Given the description of an element on the screen output the (x, y) to click on. 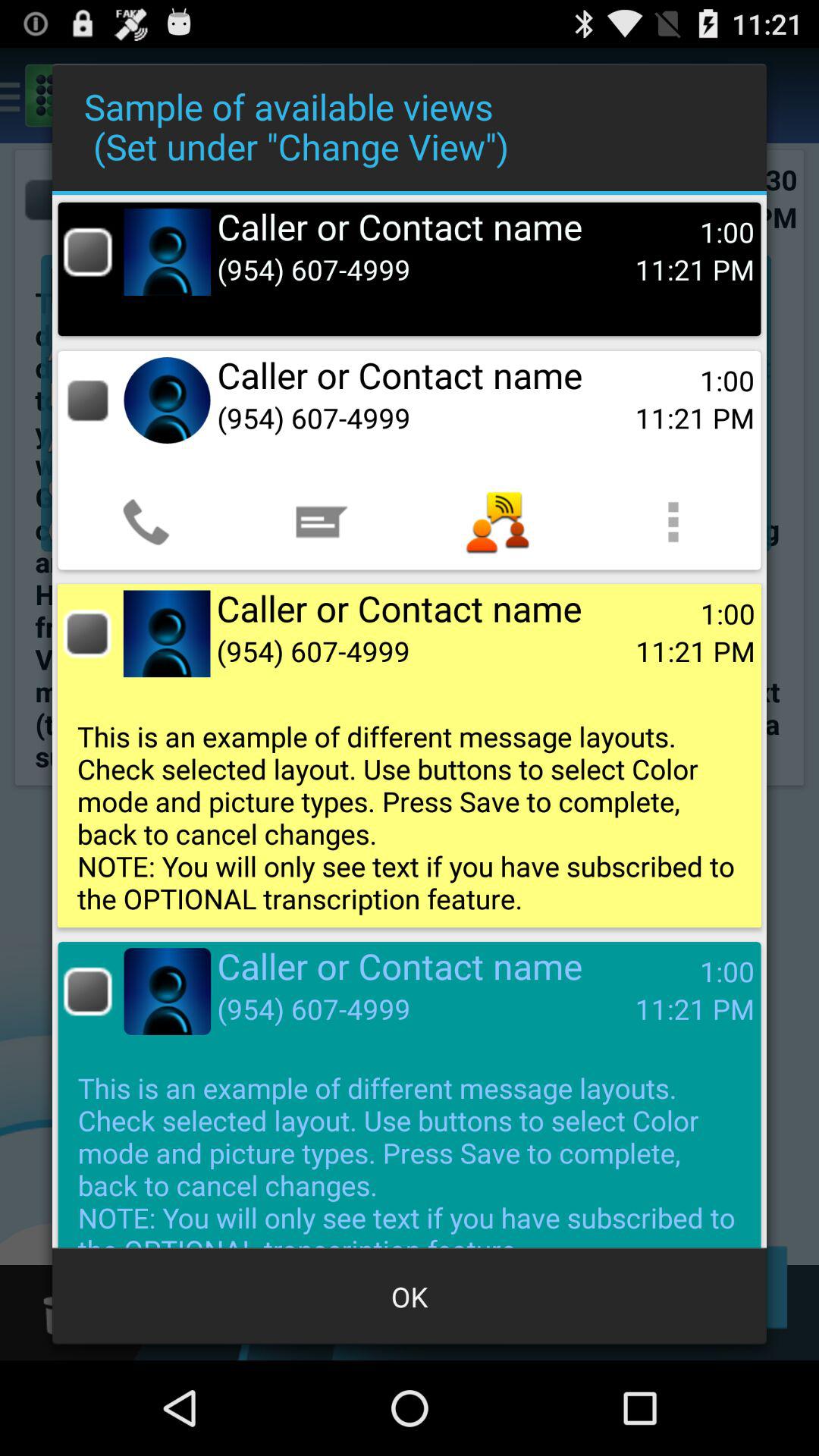
check the option (87, 991)
